Given the description of an element on the screen output the (x, y) to click on. 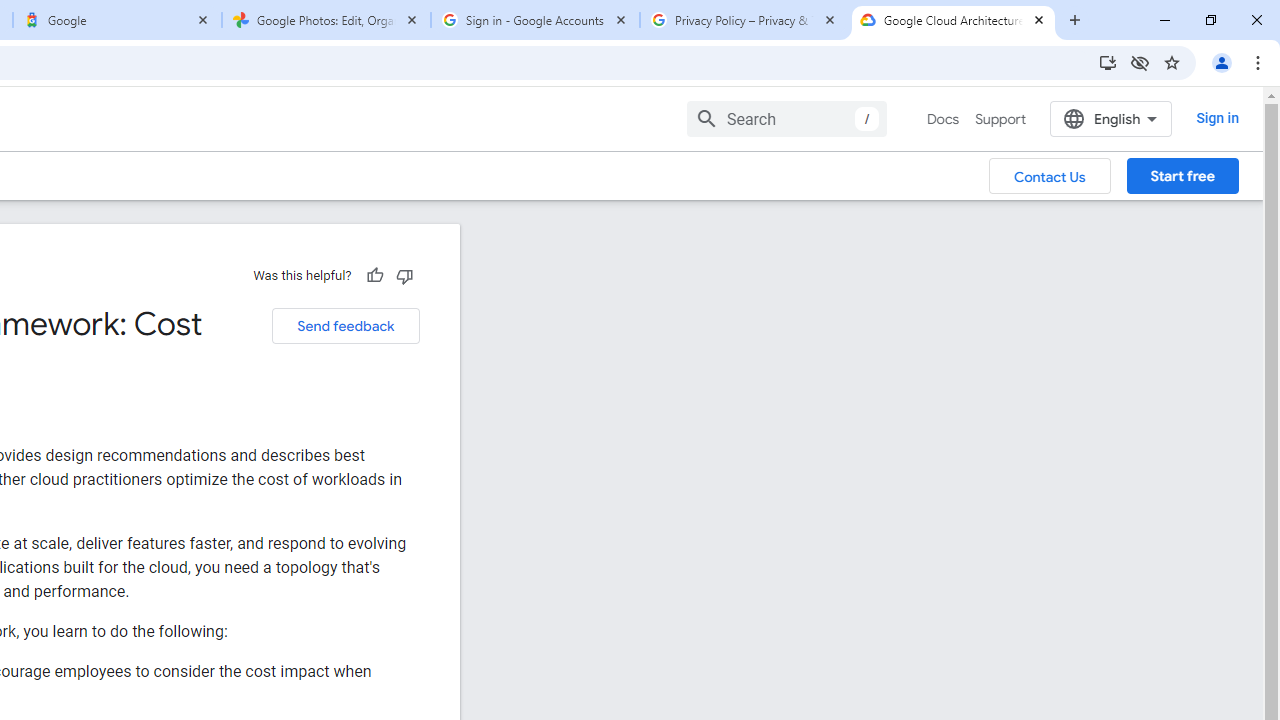
Helpful (374, 275)
Start free (1182, 175)
Support (1000, 119)
Send feedback (345, 326)
Contact Us (1050, 175)
